Given the description of an element on the screen output the (x, y) to click on. 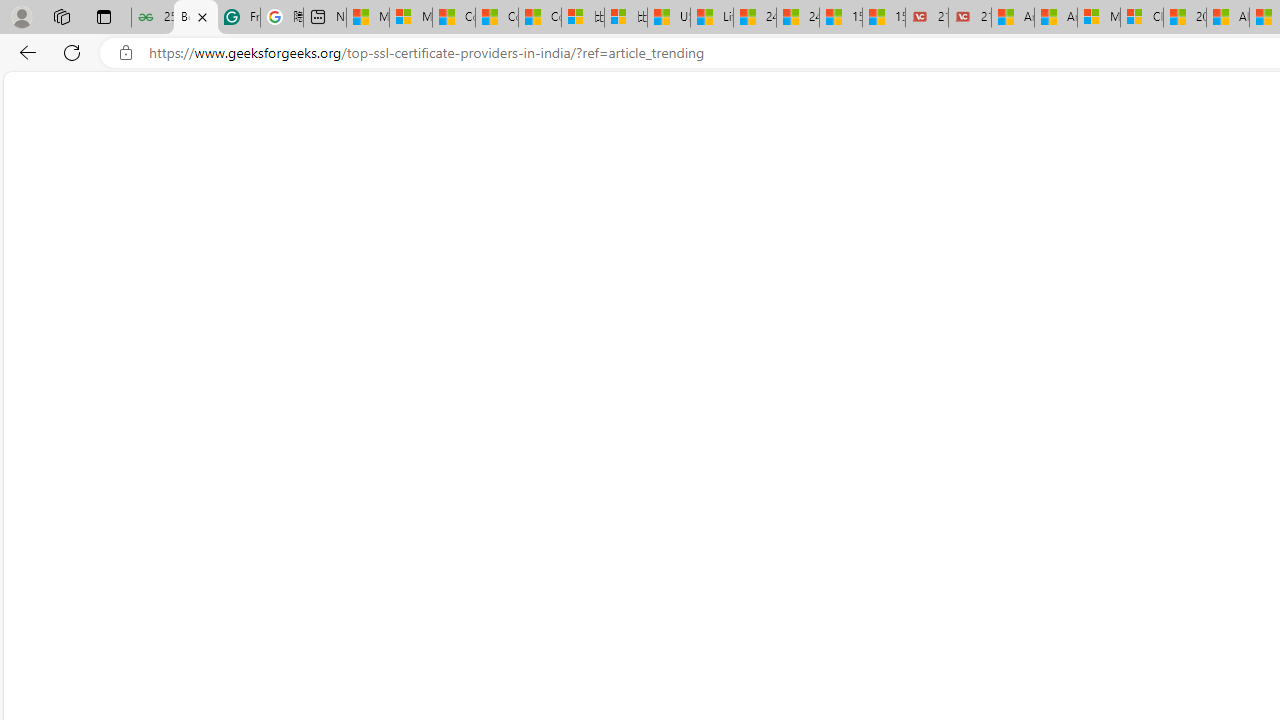
Tech Blogs (564, 142)
Blogs (207, 138)
Free AI Writing Assistance for Students | Grammarly (238, 17)
Tips & Tricks (281, 142)
Learn More (571, 386)
AutomationID: wheel (417, 440)
AI News (836, 138)
Trending (76, 142)
DSA (154, 96)
AutomationID: tag (571, 565)
Tech Tips (483, 138)
Free Online Writing Tool (571, 282)
ChatGPT News (925, 142)
